Given the description of an element on the screen output the (x, y) to click on. 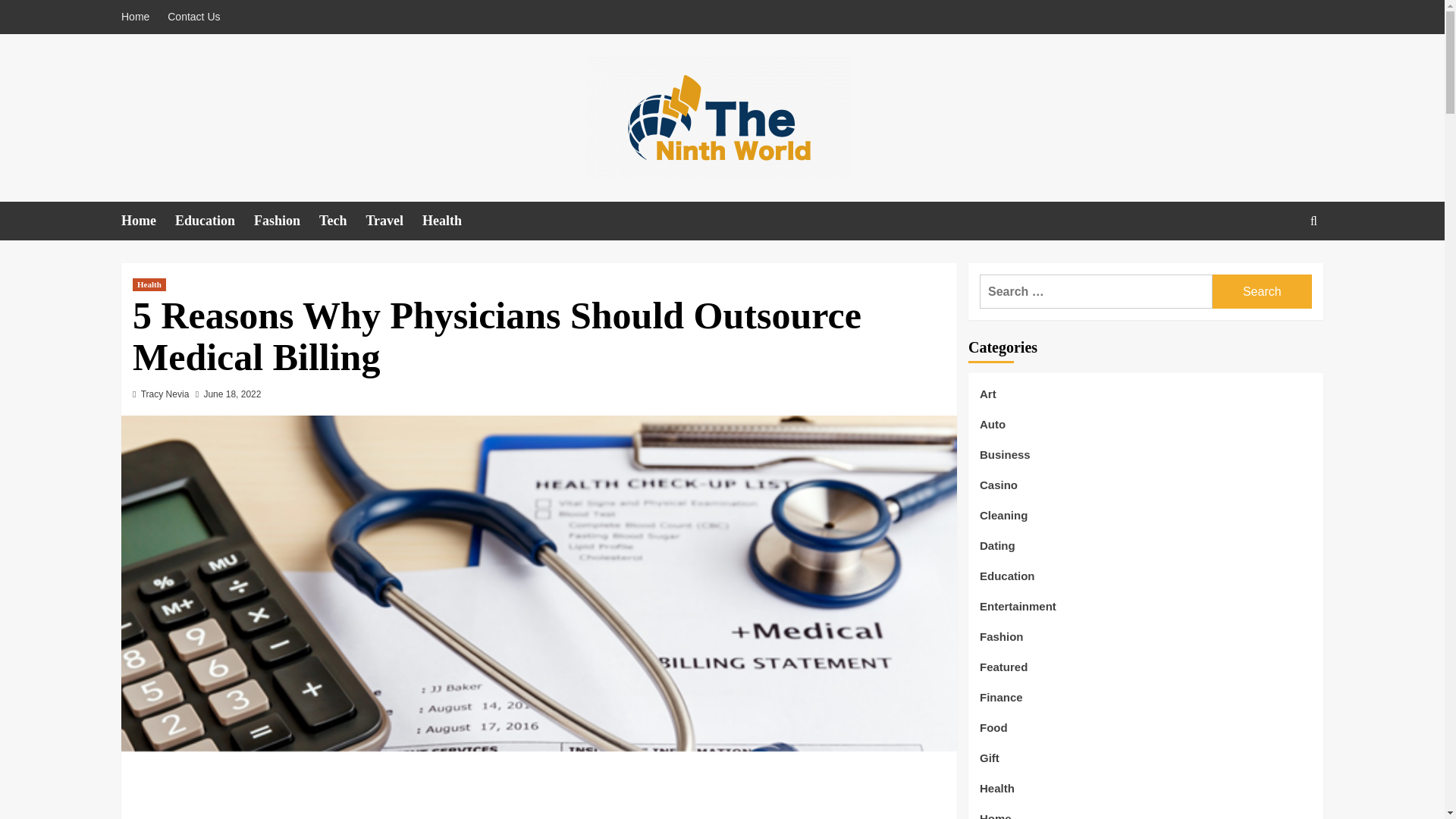
Search (1261, 291)
Search (1261, 291)
Health (148, 284)
Search (1261, 291)
Travel (393, 220)
Fashion (285, 220)
Search (1278, 267)
Contact Us (193, 17)
Home (147, 220)
Tech (341, 220)
June 18, 2022 (231, 394)
Health (451, 220)
Home (138, 17)
Tracy Nevia (165, 394)
Education (213, 220)
